Given the description of an element on the screen output the (x, y) to click on. 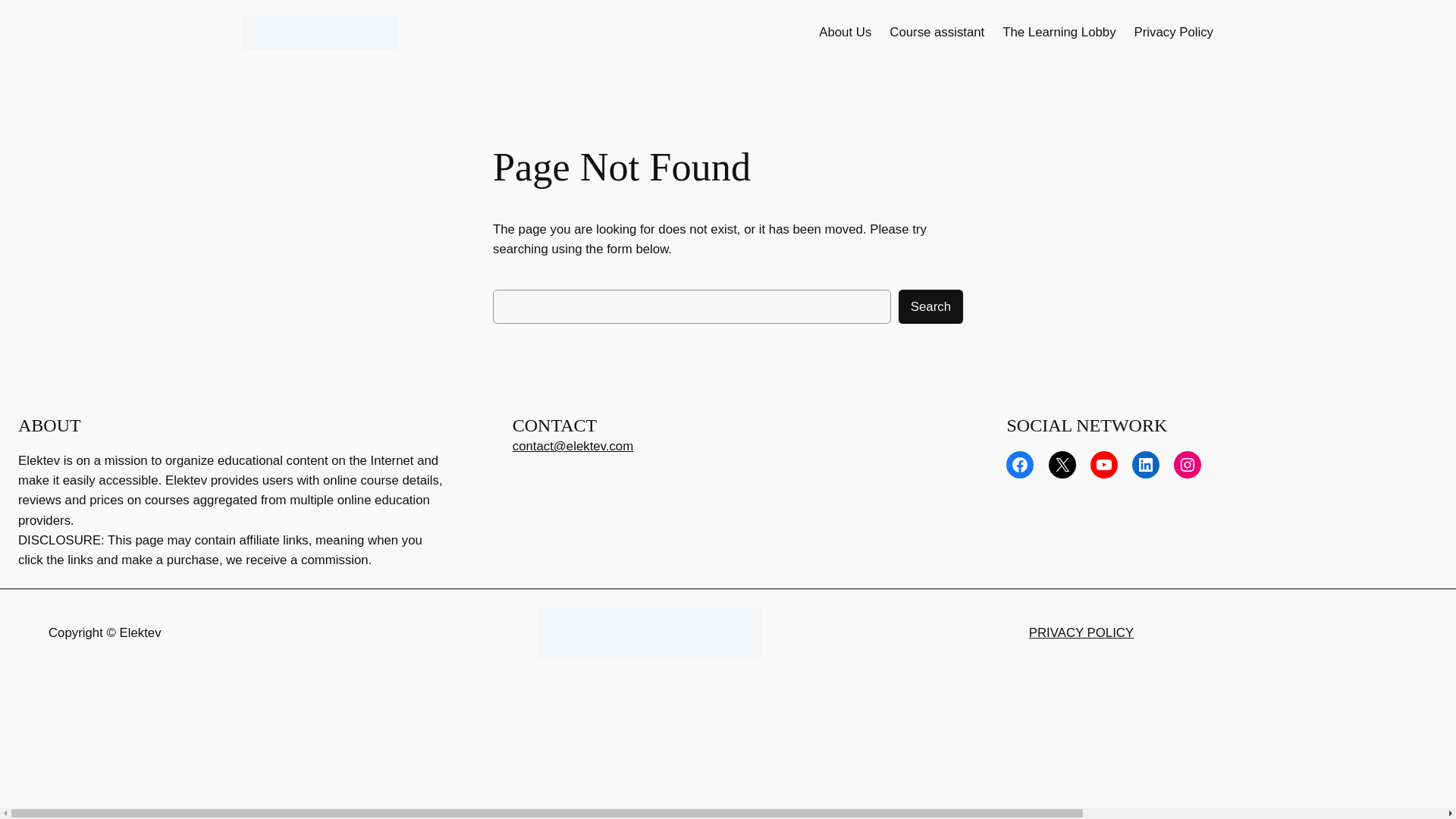
Privacy Policy (1173, 32)
YouTube (1104, 464)
Course assistant (936, 32)
X (1061, 464)
LinkedIn (1145, 464)
Search (930, 306)
Facebook (1019, 464)
PRIVACY POLICY (1081, 632)
The Learning Lobby (1059, 32)
Instagram (1187, 464)
About Us (844, 32)
